Given the description of an element on the screen output the (x, y) to click on. 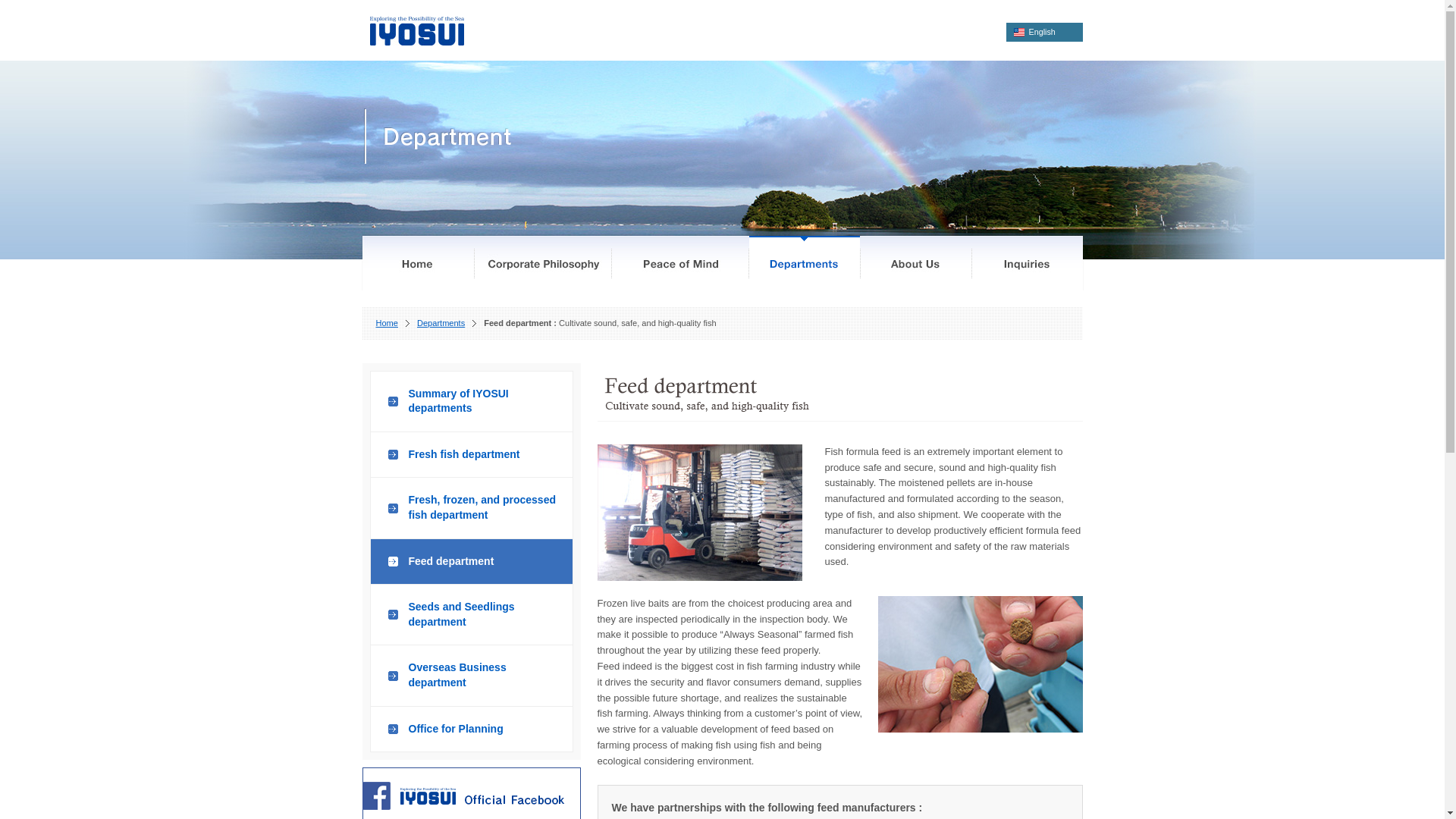
Fresh fish department (471, 455)
Home (386, 322)
Feed department (471, 561)
Overseas Business department (471, 675)
Summary of IYOSUI departments (471, 401)
Seeds and Seedlings department (471, 614)
Departments (440, 322)
Office for Planning (471, 729)
Fresh, frozen, and processed fish department (471, 507)
